Given the description of an element on the screen output the (x, y) to click on. 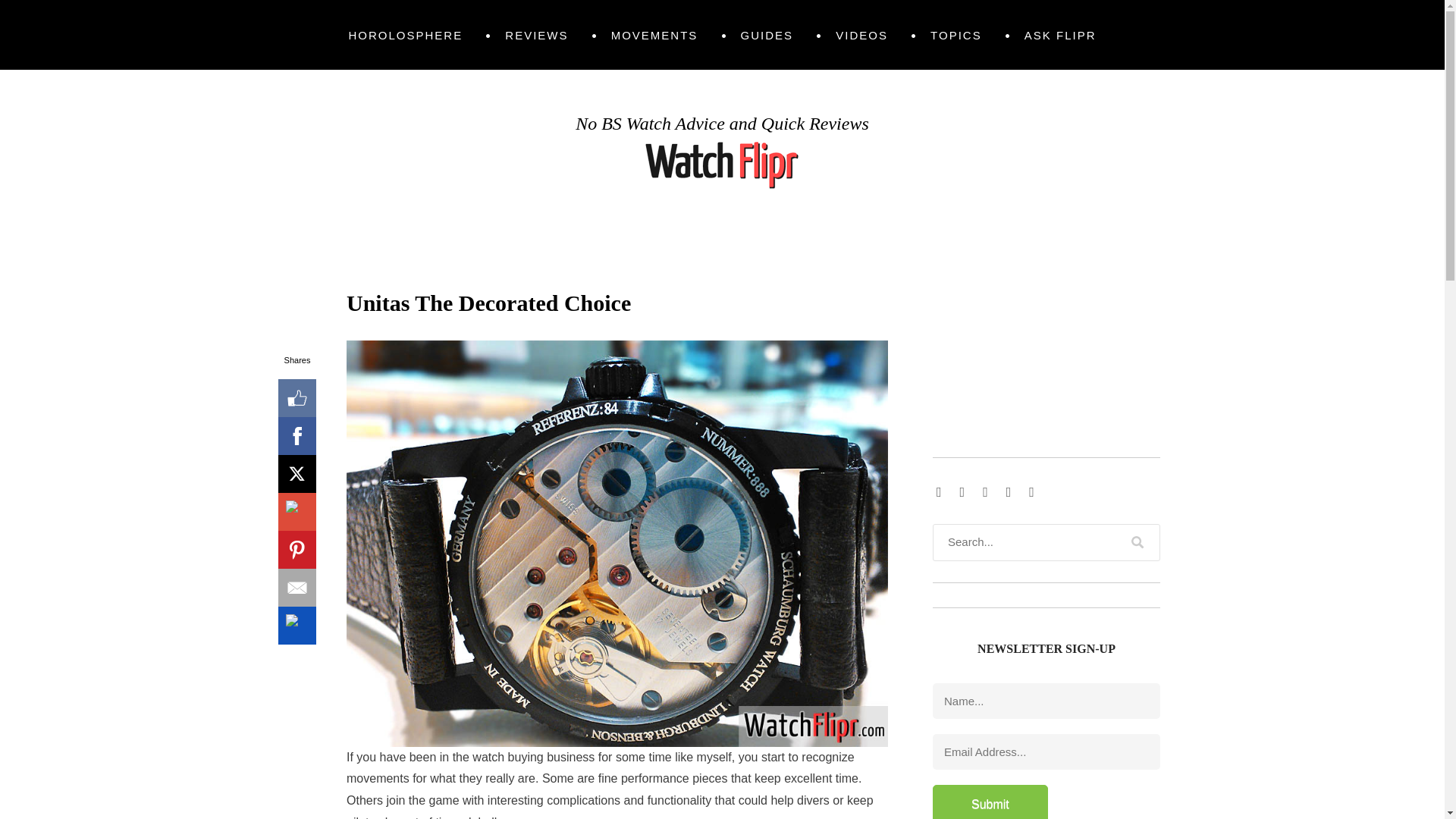
MOVEMENTS (654, 35)
Submit (990, 801)
Submit (990, 801)
Email (296, 587)
X (296, 474)
Search (1137, 542)
GUIDES (767, 35)
WATCH FLIPR (344, 138)
REVIEWS (536, 35)
Facebook (296, 435)
